Given the description of an element on the screen output the (x, y) to click on. 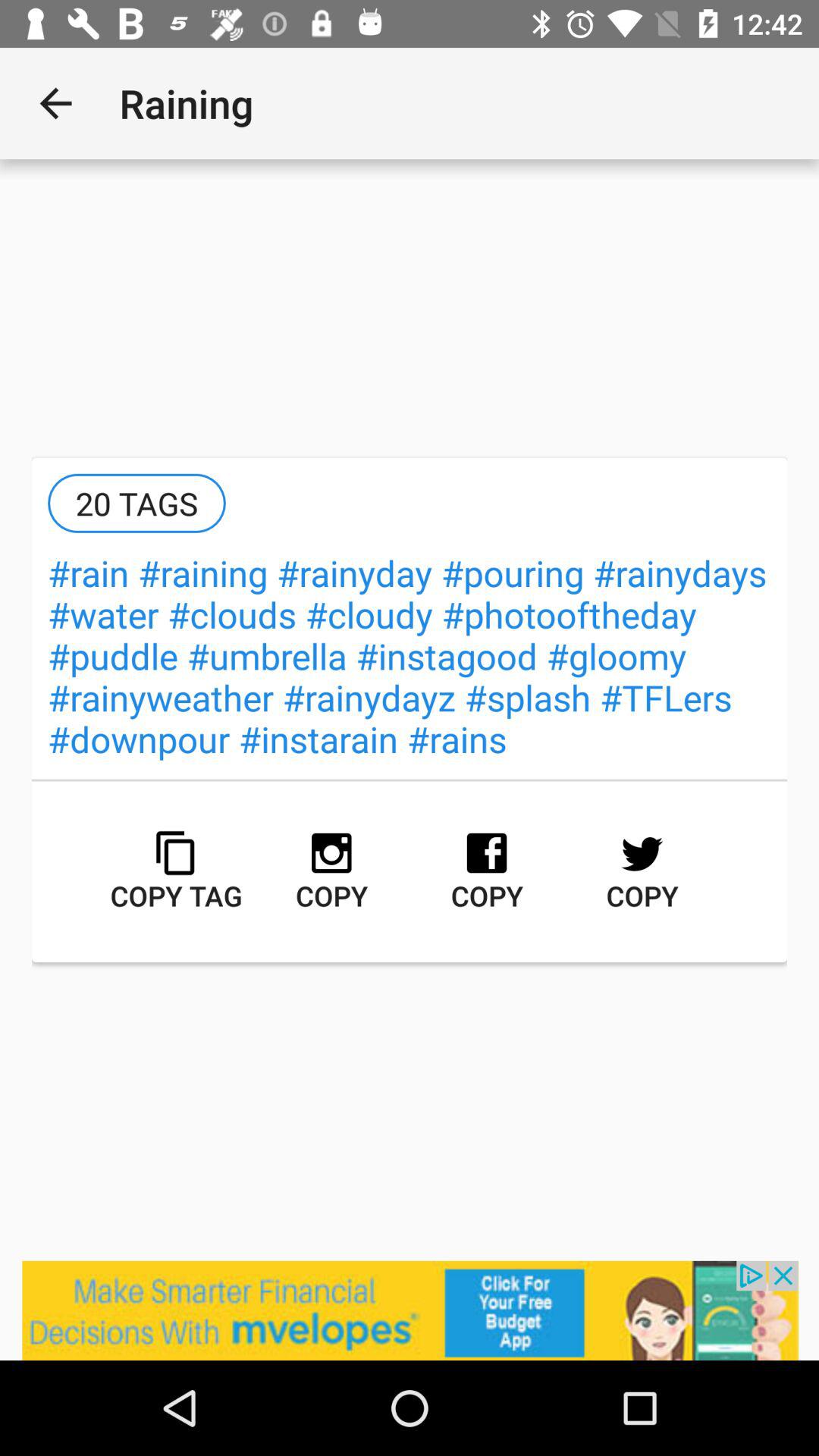
view the advertisement (409, 1310)
